Given the description of an element on the screen output the (x, y) to click on. 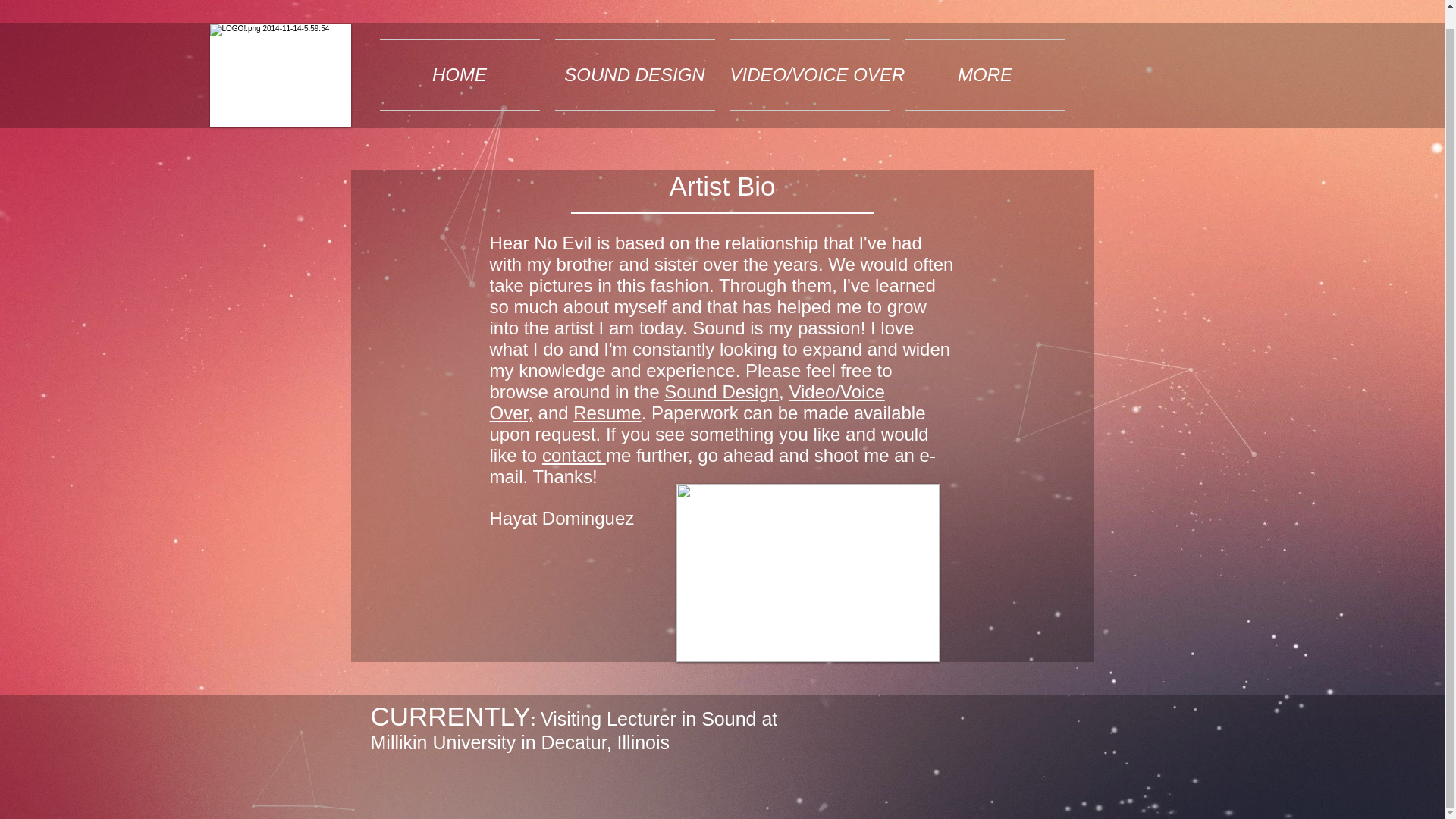
LOGO!.png 2014-11-14-5:59:54 (279, 75)
Sound Design (720, 391)
SOUND DESIGN (634, 74)
HOME (459, 74)
Resume (606, 412)
contact (573, 455)
